Given the description of an element on the screen output the (x, y) to click on. 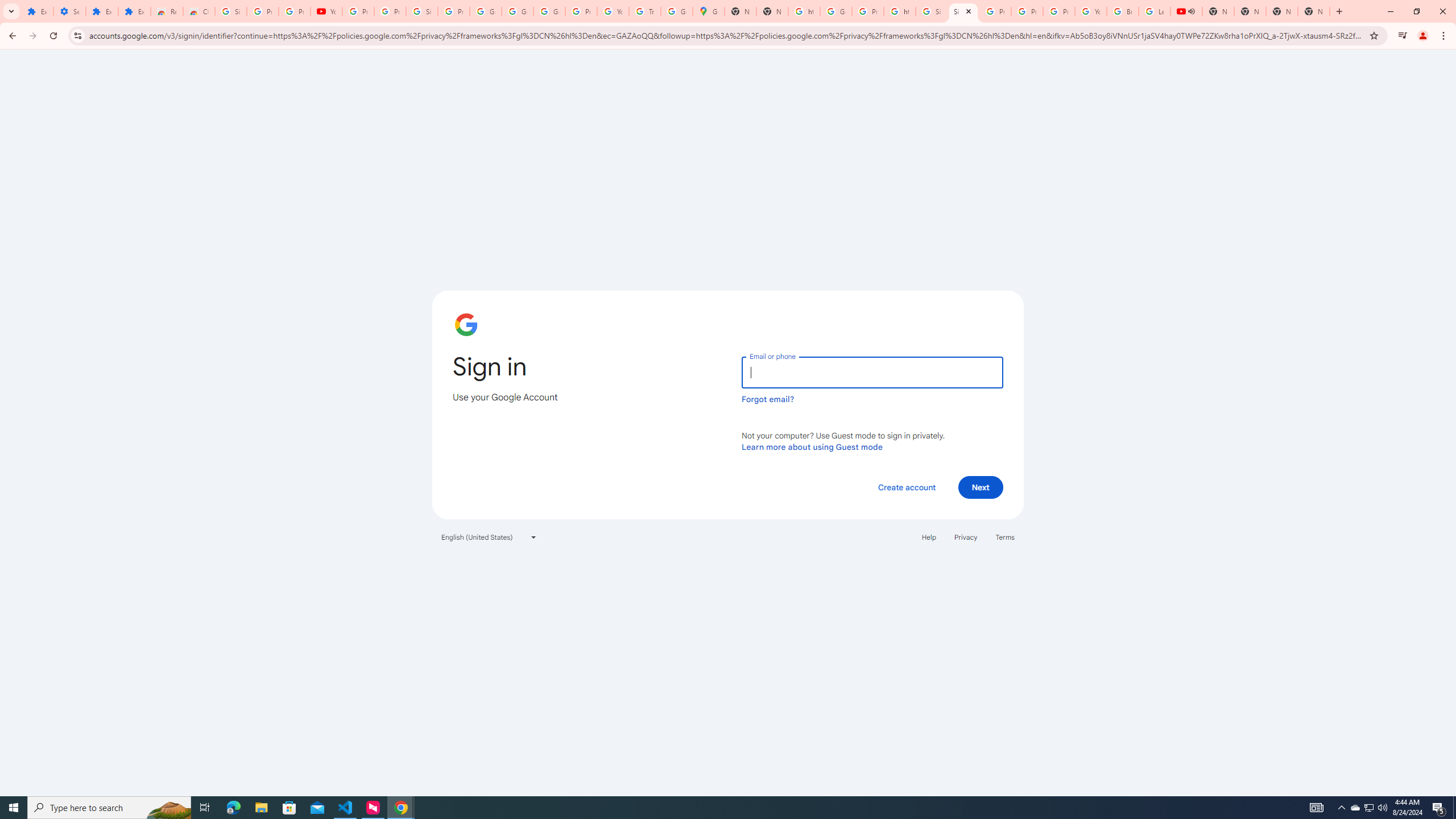
Sign in - Google Accounts (963, 11)
Sign in - Google Accounts (230, 11)
New Tab (1313, 11)
Extensions (101, 11)
Google Account (517, 11)
Sign in - Google Accounts (931, 11)
